Given the description of an element on the screen output the (x, y) to click on. 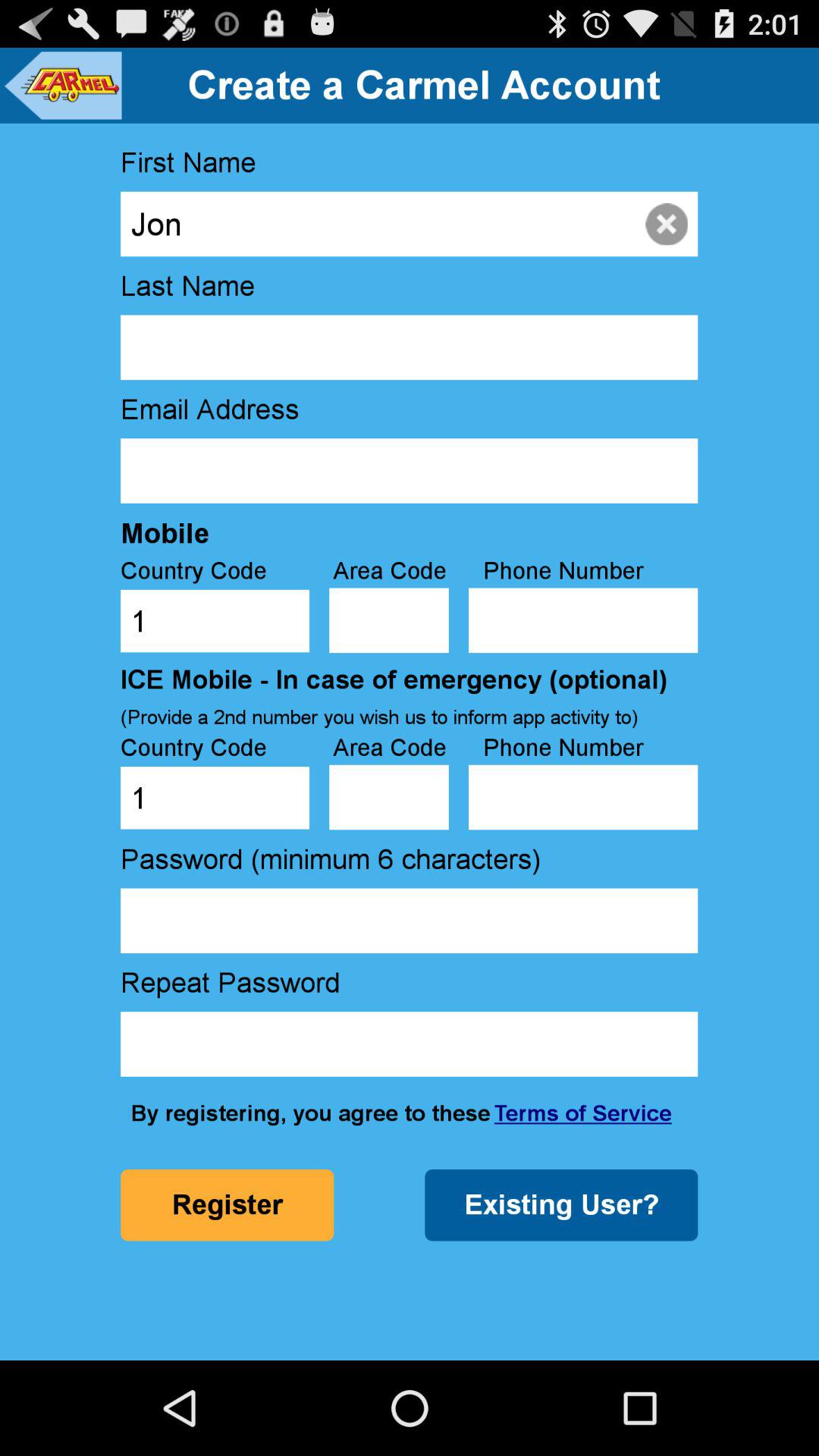
click the icon below by registering you item (226, 1205)
